Given the description of an element on the screen output the (x, y) to click on. 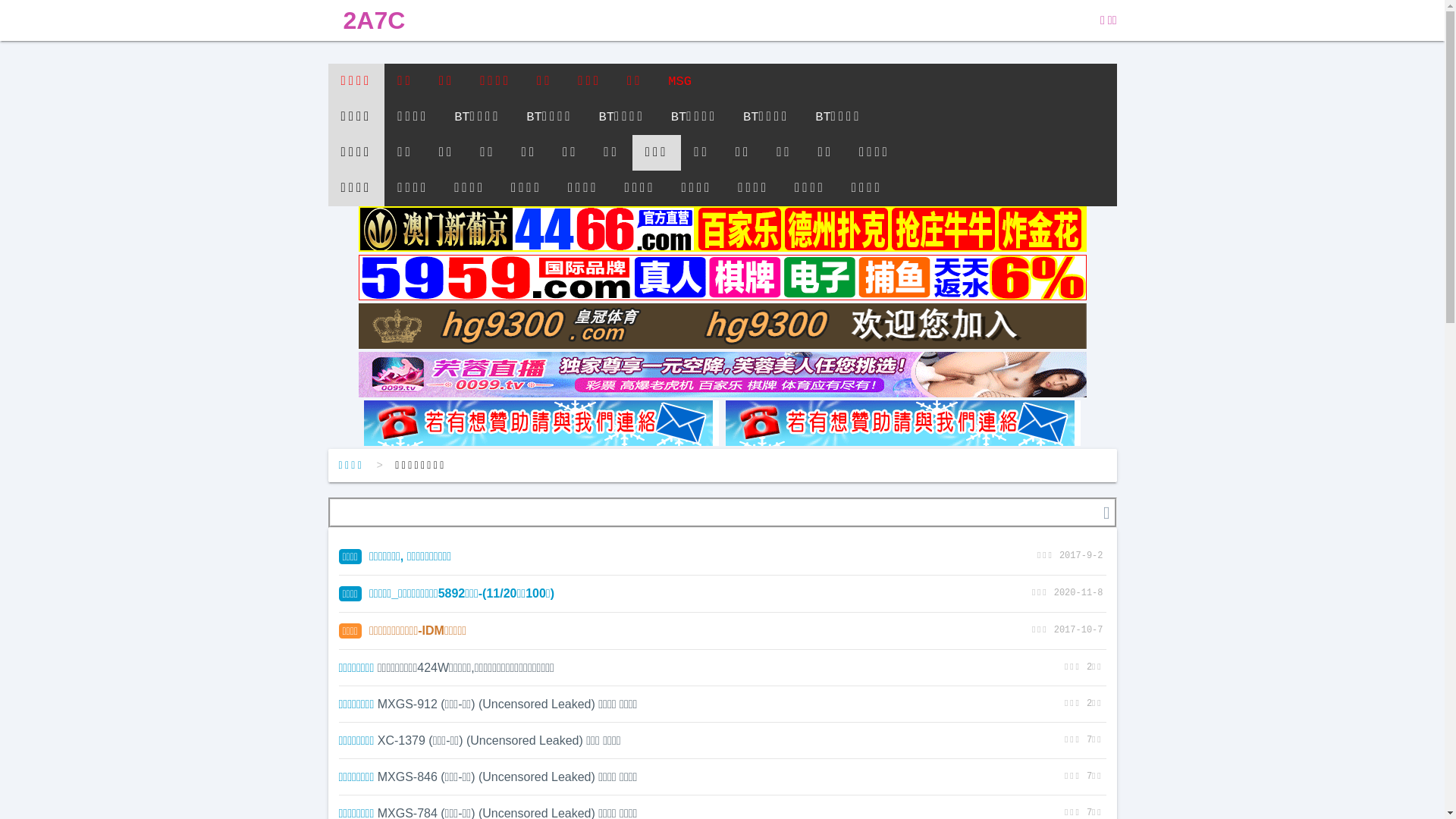
2A7C Element type: text (373, 20)
MSG Element type: text (679, 81)
